Given the description of an element on the screen output the (x, y) to click on. 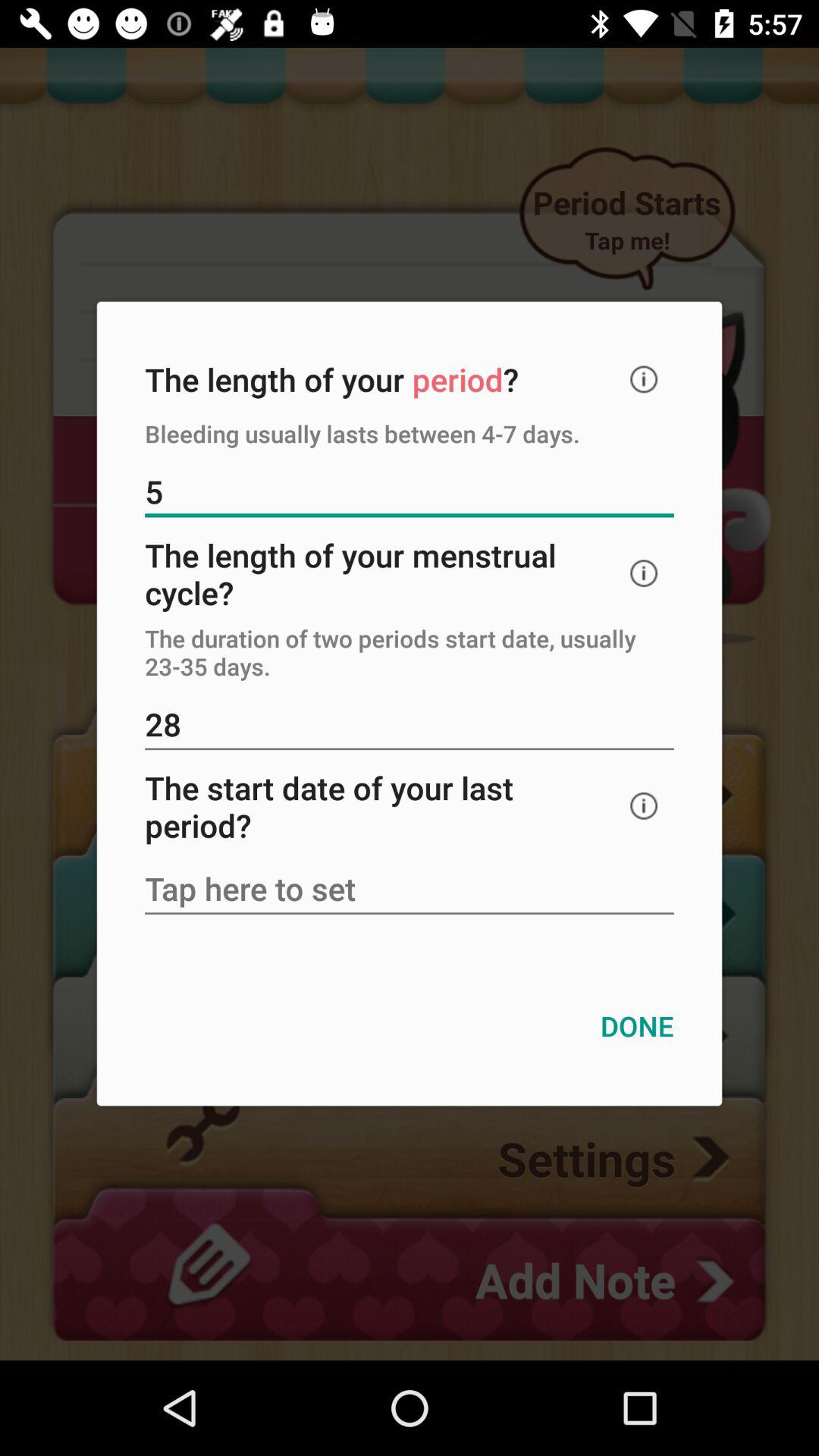
click the item above the the duration of icon (643, 573)
